Given the description of an element on the screen output the (x, y) to click on. 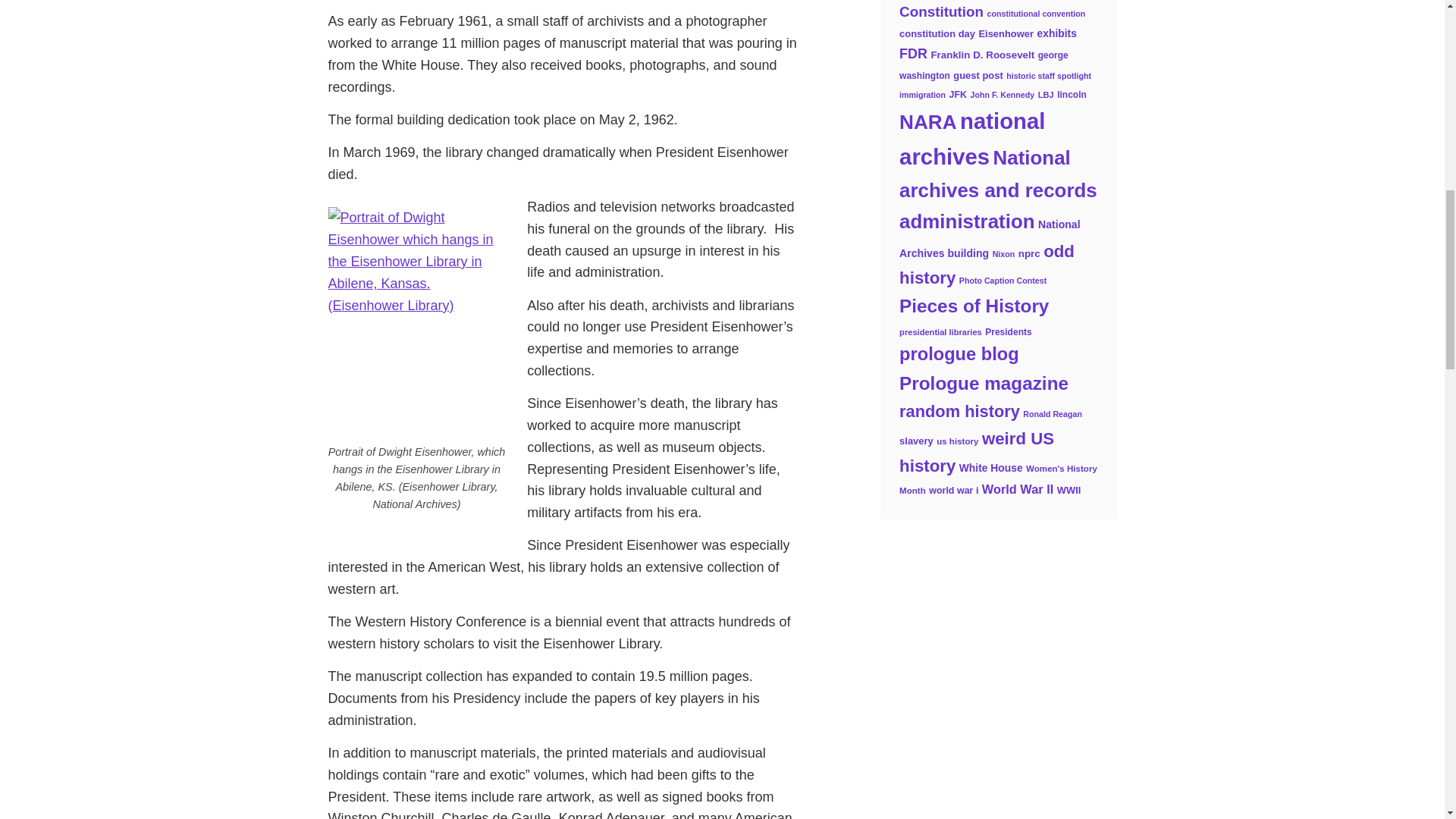
constitution day (937, 33)
Constitution (941, 11)
exhibits (1056, 33)
Eisenhower (1005, 33)
constitutional convention (1036, 13)
FDR (913, 53)
